Given the description of an element on the screen output the (x, y) to click on. 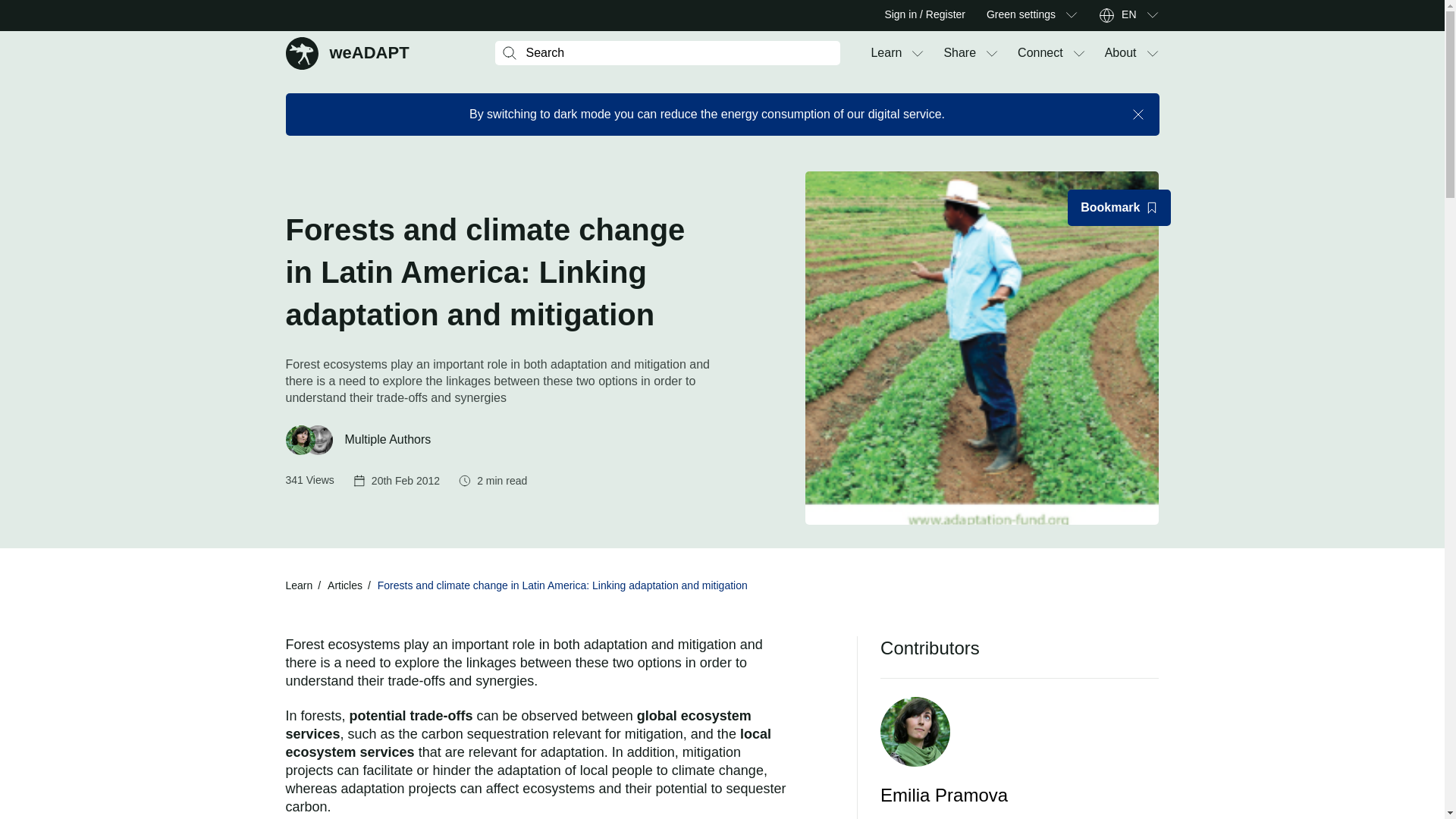
EN (1128, 14)
Share (959, 53)
Connect (1039, 53)
Translate Submenu (1151, 14)
Learn (885, 53)
Green settings (1021, 14)
About (1121, 53)
Submenu (347, 52)
